Given the description of an element on the screen output the (x, y) to click on. 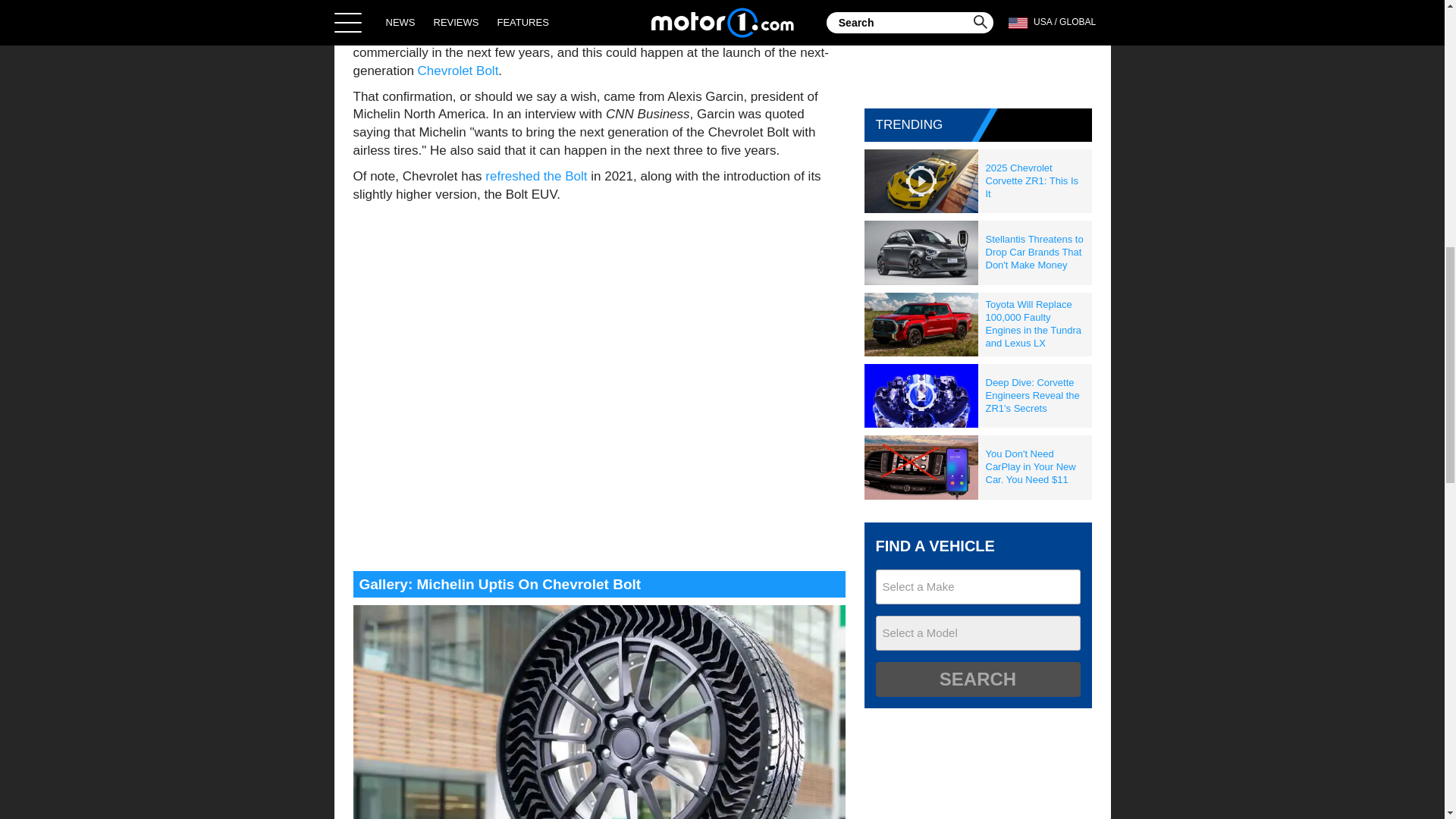
refreshed the Bolt (535, 175)
Chevrolet Bolt (458, 70)
Search (977, 678)
